Given the description of an element on the screen output the (x, y) to click on. 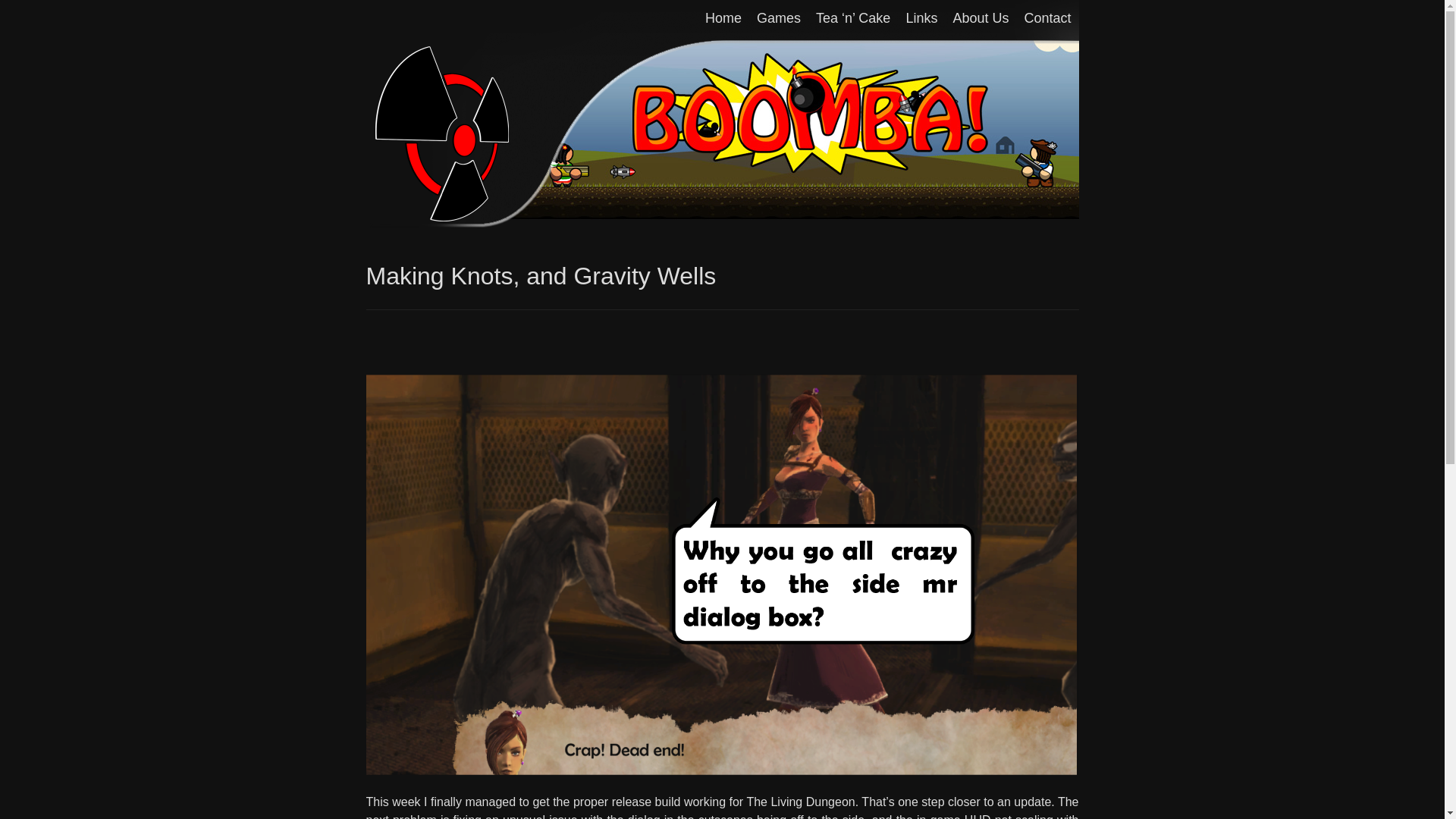
Home (723, 19)
Contact (1047, 19)
About Us (980, 19)
Games (778, 19)
Links (921, 19)
